Given the description of an element on the screen output the (x, y) to click on. 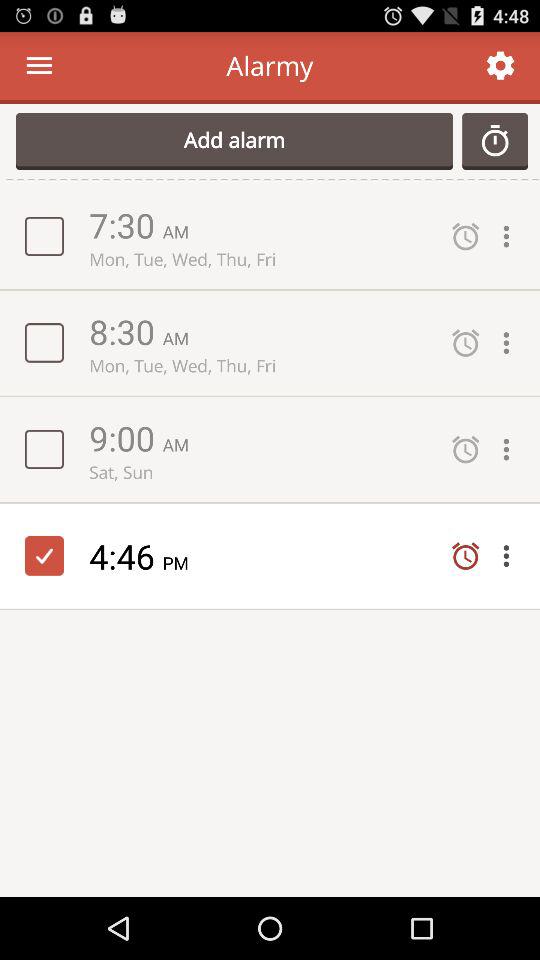
launch item to the right of add alarm icon (495, 141)
